Given the description of an element on the screen output the (x, y) to click on. 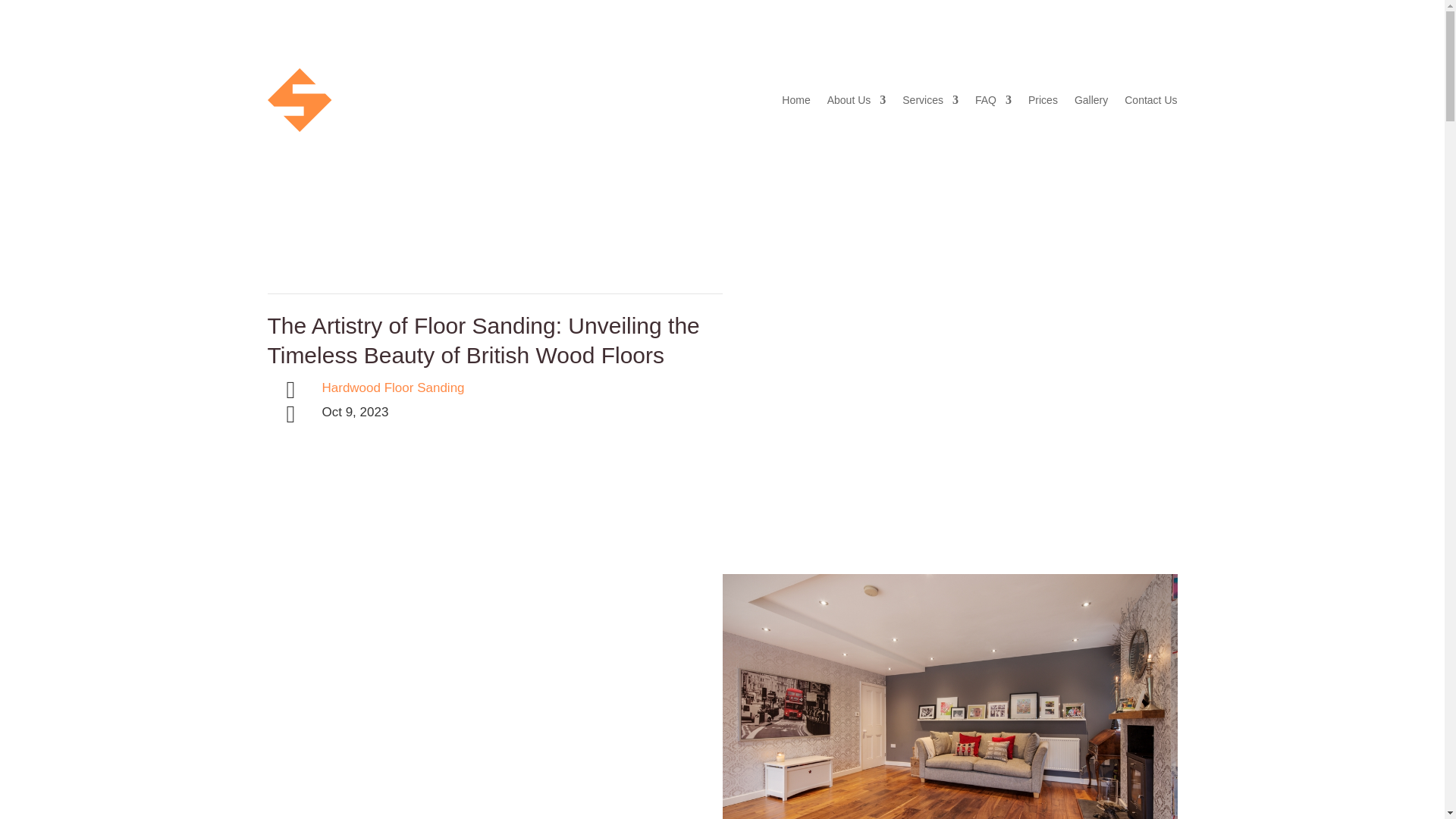
estate-planning-09 (862, 433)
estate-planning-10 (949, 696)
About Us (856, 99)
